Given the description of an element on the screen output the (x, y) to click on. 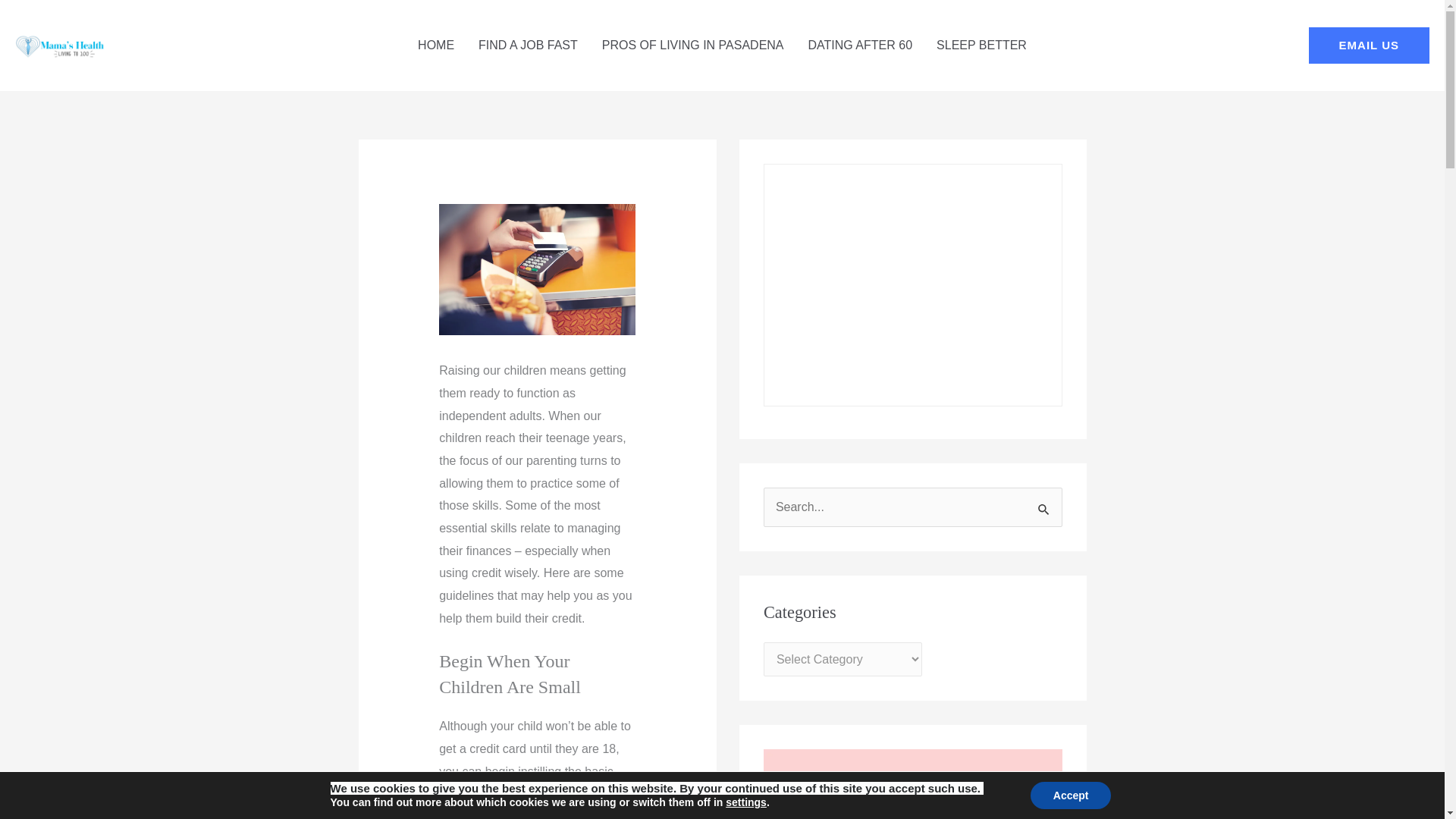
settings (746, 802)
Accept (1071, 795)
SLEEP BETTER (981, 45)
DATING AFTER 60 (860, 45)
FIND A JOB FAST (527, 45)
PROS OF LIVING IN PASADENA (692, 45)
EMAIL US (1368, 45)
